Given the description of an element on the screen output the (x, y) to click on. 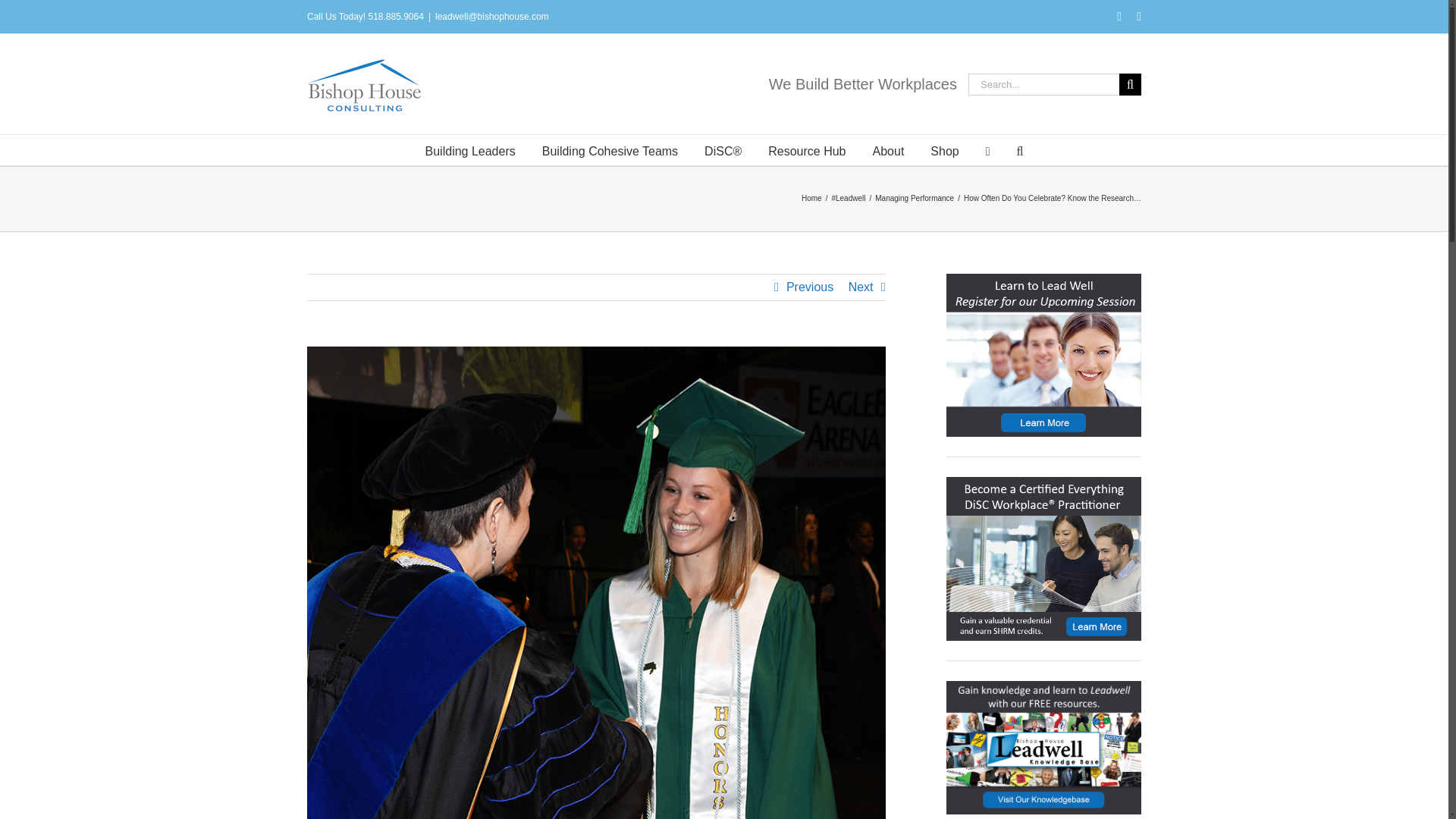
Building Leaders (470, 150)
Building Cohesive Teams (609, 150)
